Given the description of an element on the screen output the (x, y) to click on. 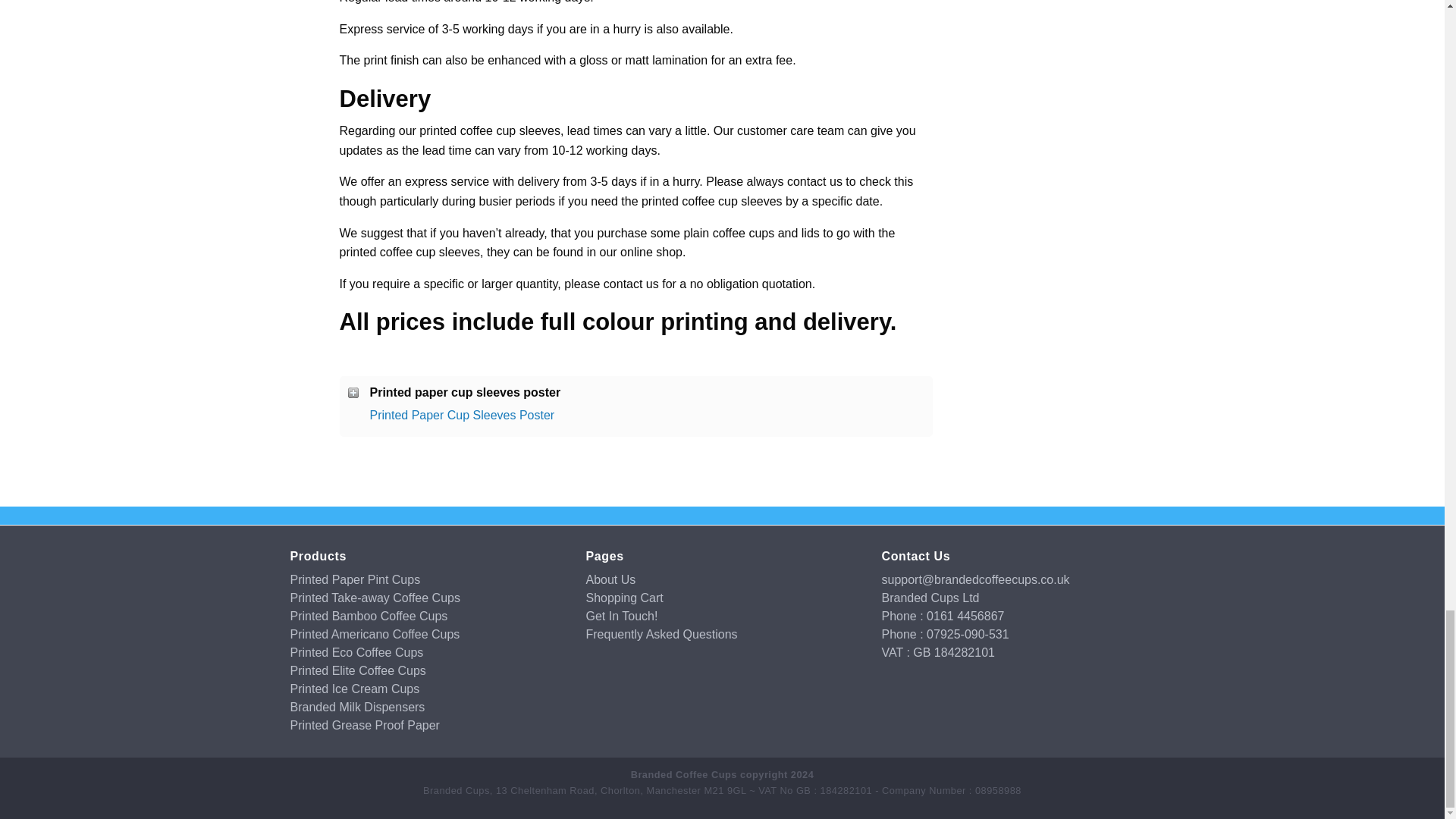
Printed Paper Cup Sleeves Poster (461, 414)
